Given the description of an element on the screen output the (x, y) to click on. 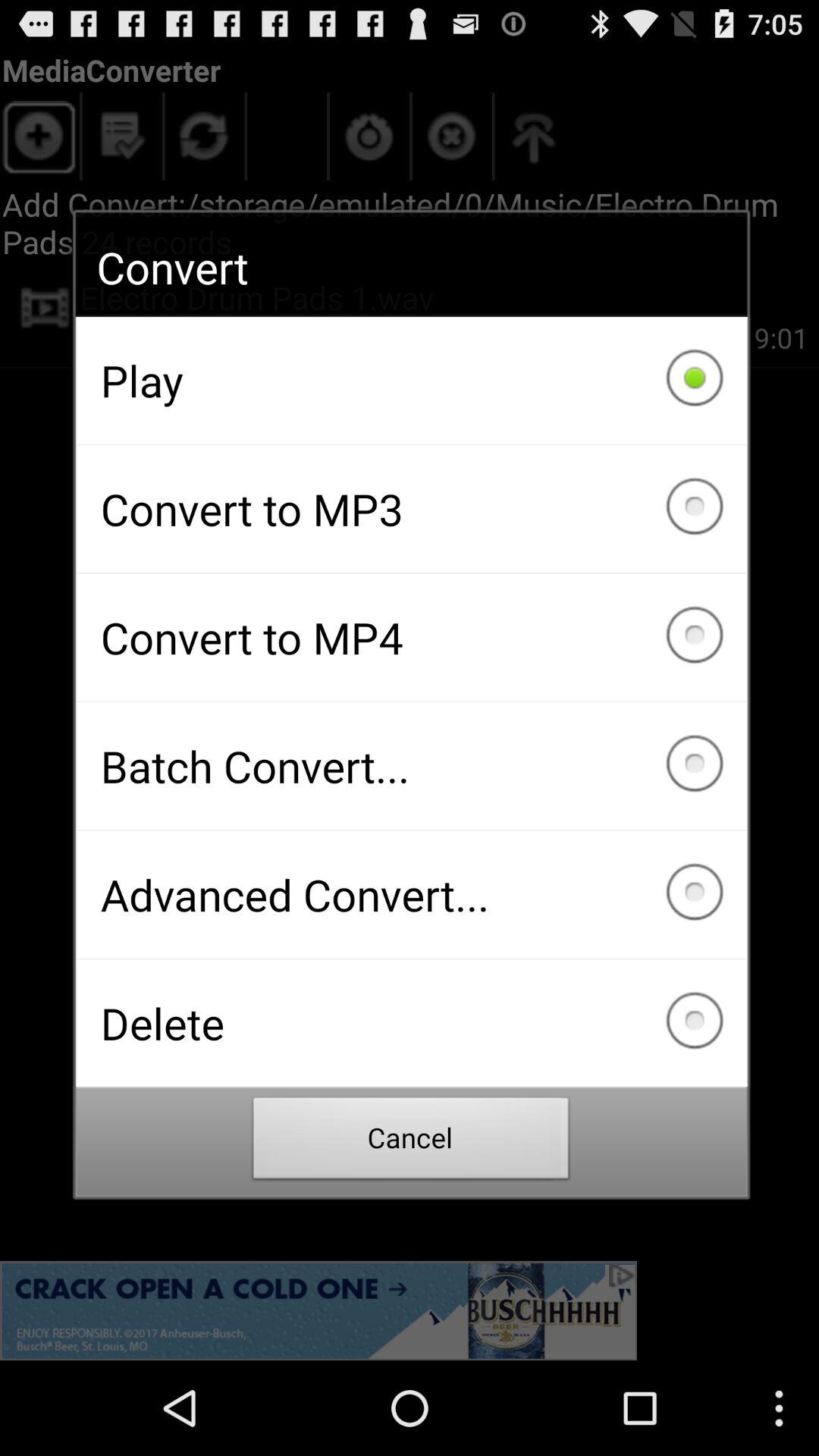
press the icon below delete (410, 1142)
